Given the description of an element on the screen output the (x, y) to click on. 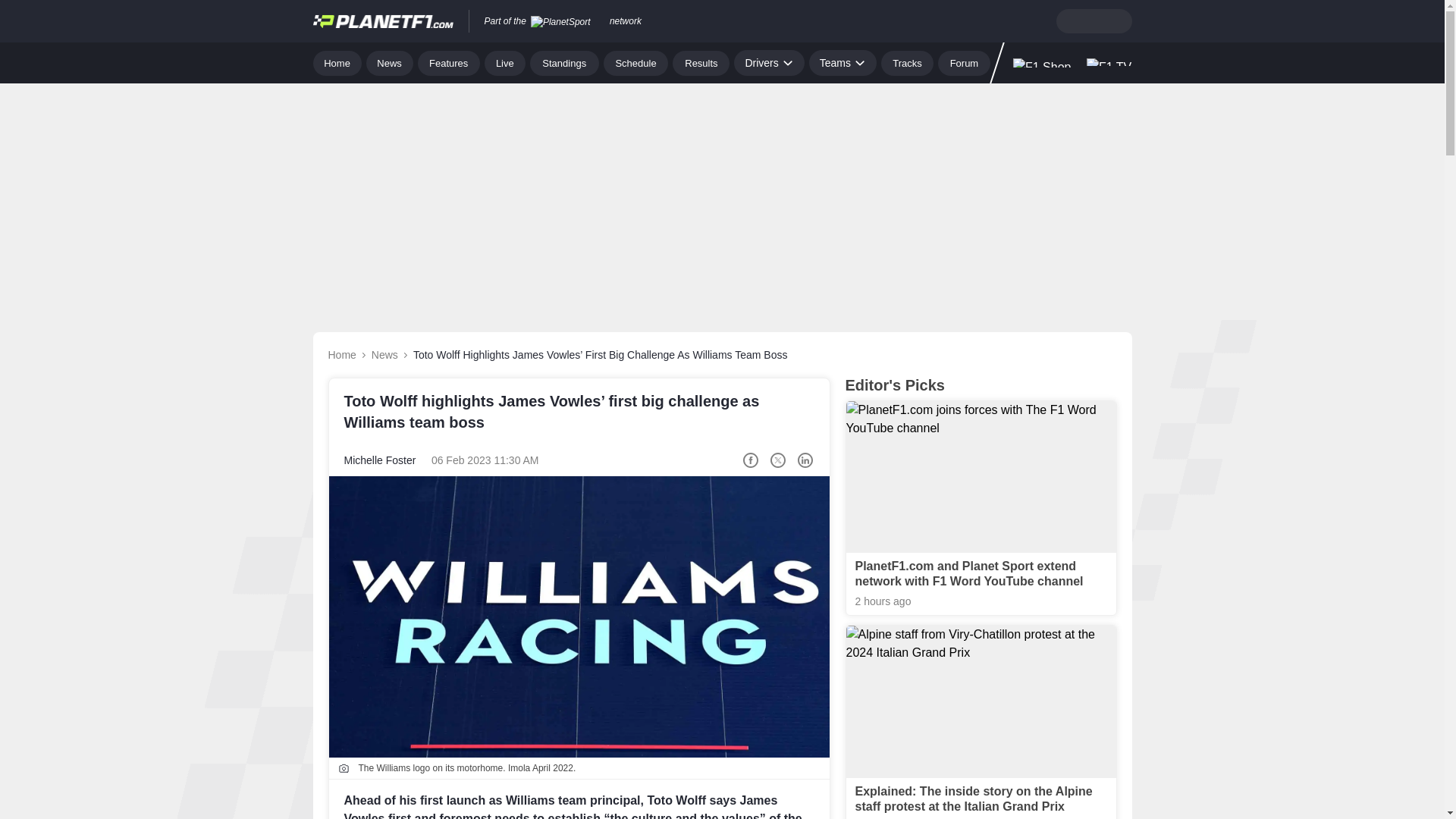
Features (448, 62)
Schedule (636, 62)
Drivers (768, 62)
Standings (563, 62)
Results (700, 62)
Home (337, 62)
News (389, 62)
Live (504, 62)
Teams (842, 62)
